Given the description of an element on the screen output the (x, y) to click on. 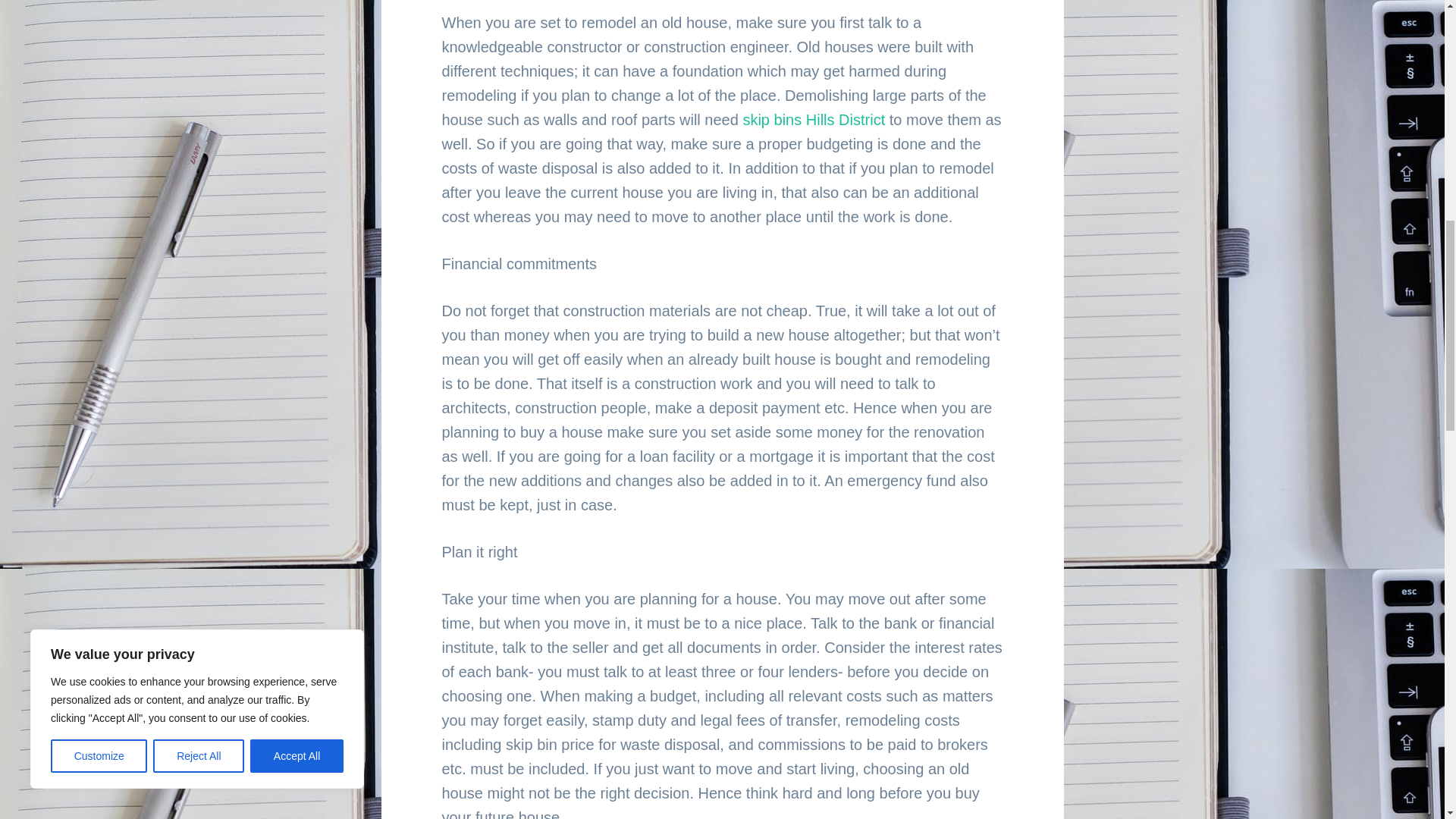
skip bins Hills District (813, 119)
